Given the description of an element on the screen output the (x, y) to click on. 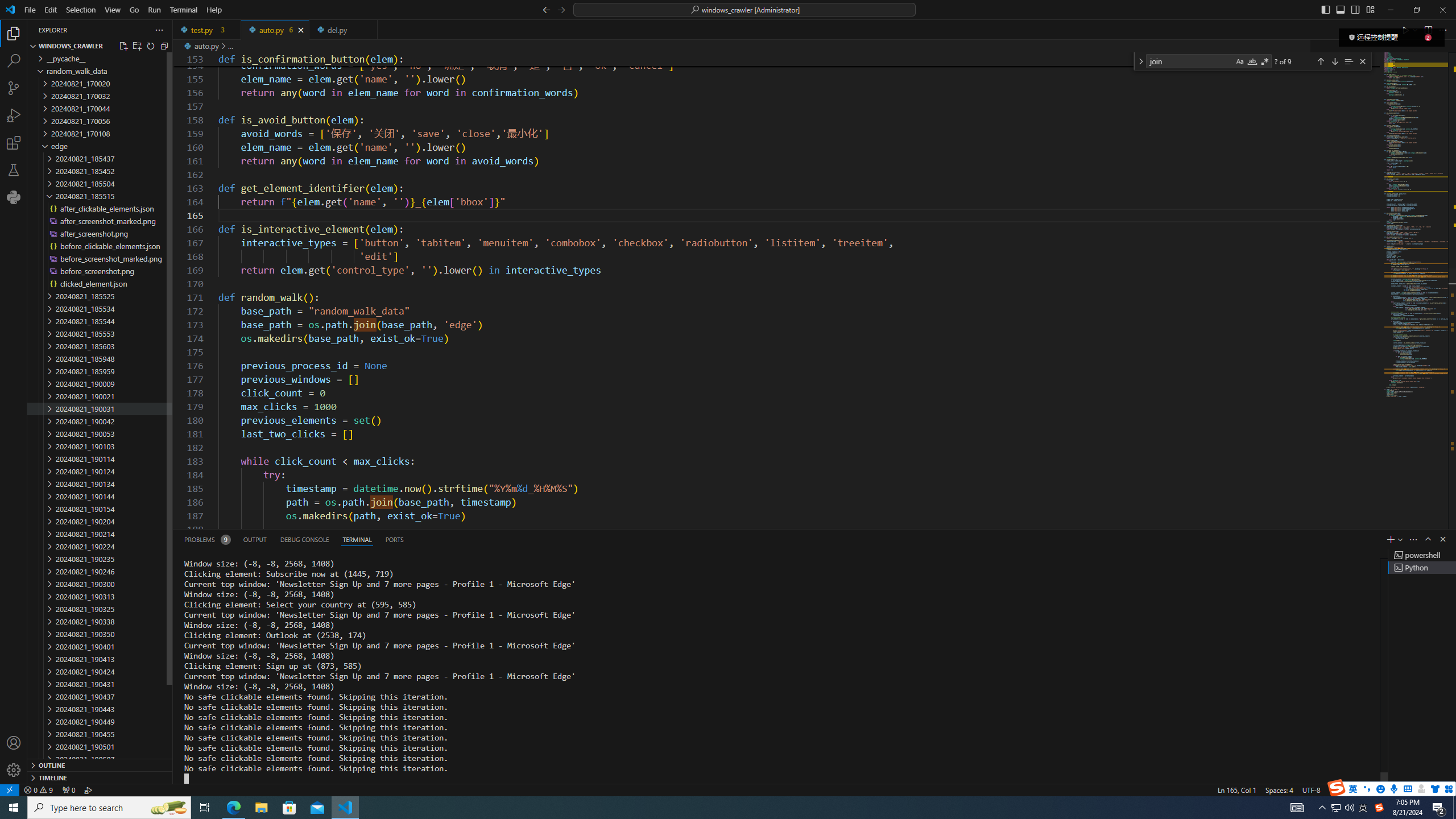
Selection (80, 9)
Launch Profile... (1400, 539)
View (112, 9)
Use Regular Expression (Alt+R) (1265, 61)
File (30, 9)
Spaces: 4 (1278, 789)
Ports (394, 539)
New Folder... (136, 45)
Toggle Replace (1140, 61)
remote (9, 789)
UTF-8 (1310, 789)
Outline Section (99, 764)
Terminal 1 powershell (1422, 554)
No Ports Forwarded (68, 789)
